Given the description of an element on the screen output the (x, y) to click on. 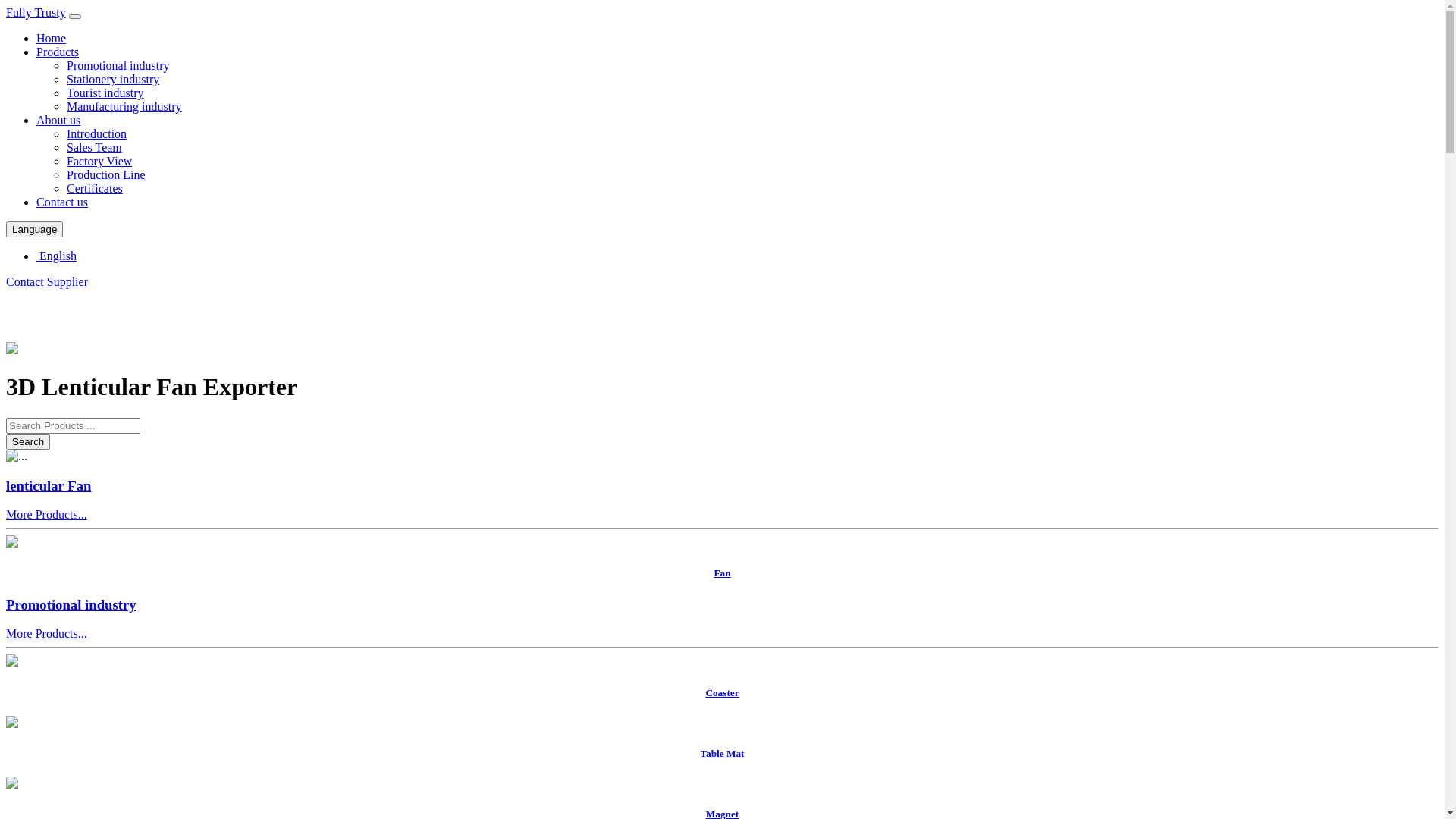
More Products... Element type: text (46, 633)
Fully Trusty Element type: text (35, 12)
Tourist industry Element type: text (105, 92)
Products Element type: text (57, 51)
lenticular Fan Element type: text (48, 485)
Manufacturing industry Element type: text (124, 106)
English Element type: text (56, 255)
Promotional industry Element type: text (71, 604)
Certificates Element type: text (94, 188)
Fan Element type: text (722, 557)
Contact us Element type: text (61, 201)
Search Element type: text (28, 441)
Production Line Element type: text (105, 174)
Sales Team Element type: text (94, 147)
Stationery industry Element type: text (112, 78)
Factory View Element type: text (98, 160)
Table Mat Element type: text (722, 738)
Introduction Element type: text (96, 133)
More Products... Element type: text (46, 514)
Language Element type: text (34, 229)
About us Element type: text (58, 119)
Contact Supplier Element type: text (46, 281)
Coaster Element type: text (722, 676)
Home Element type: text (50, 37)
Promotional industry Element type: text (117, 65)
